Given the description of an element on the screen output the (x, y) to click on. 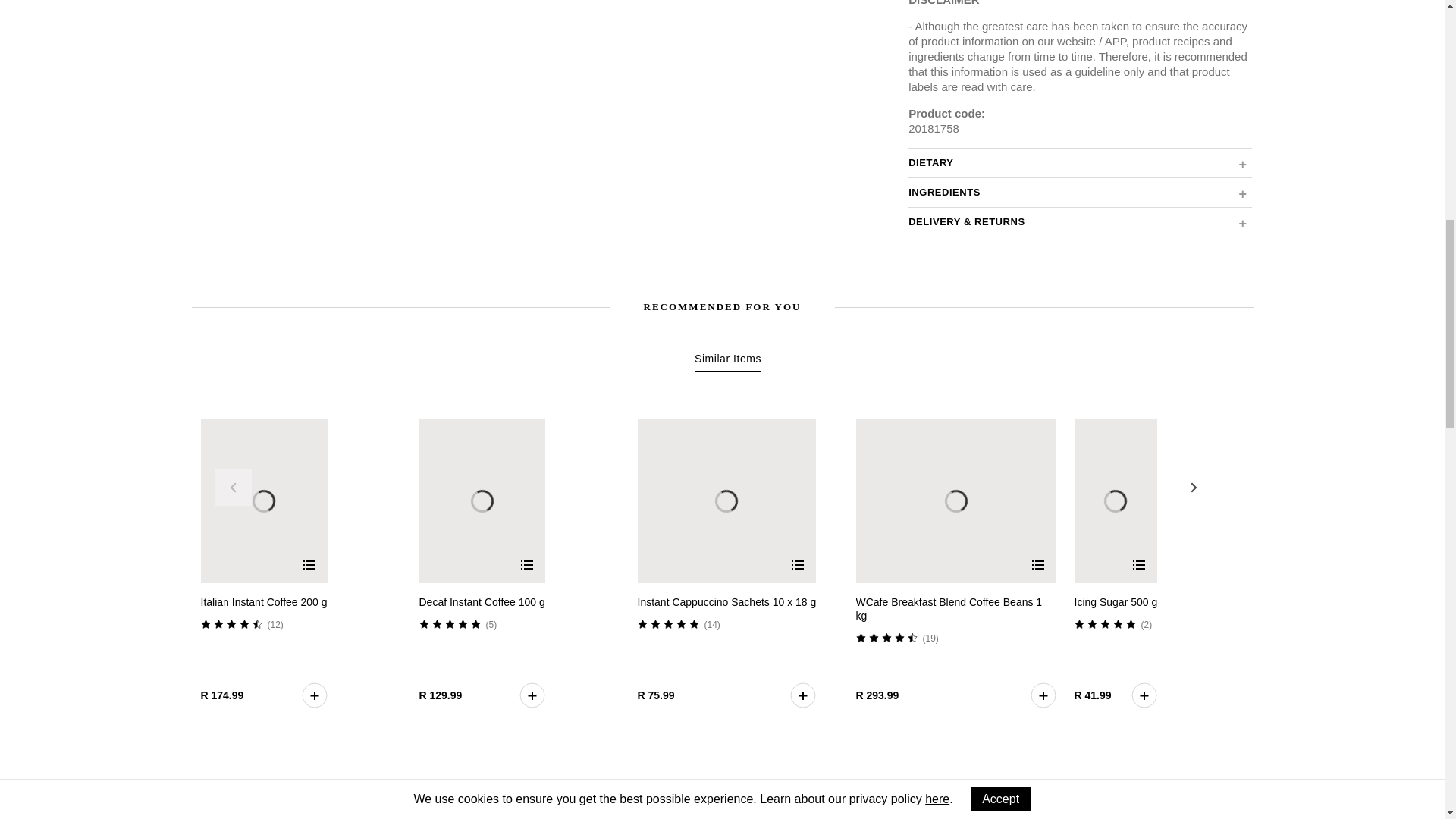
Decaf Instant Coffee 100 g (481, 602)
Italian Instant Coffee 200 g (263, 602)
Instant Cappuccino Sachets 10 x 18 g (726, 602)
Similar Items (727, 361)
Previous (233, 487)
Similar Items (727, 361)
